Given the description of an element on the screen output the (x, y) to click on. 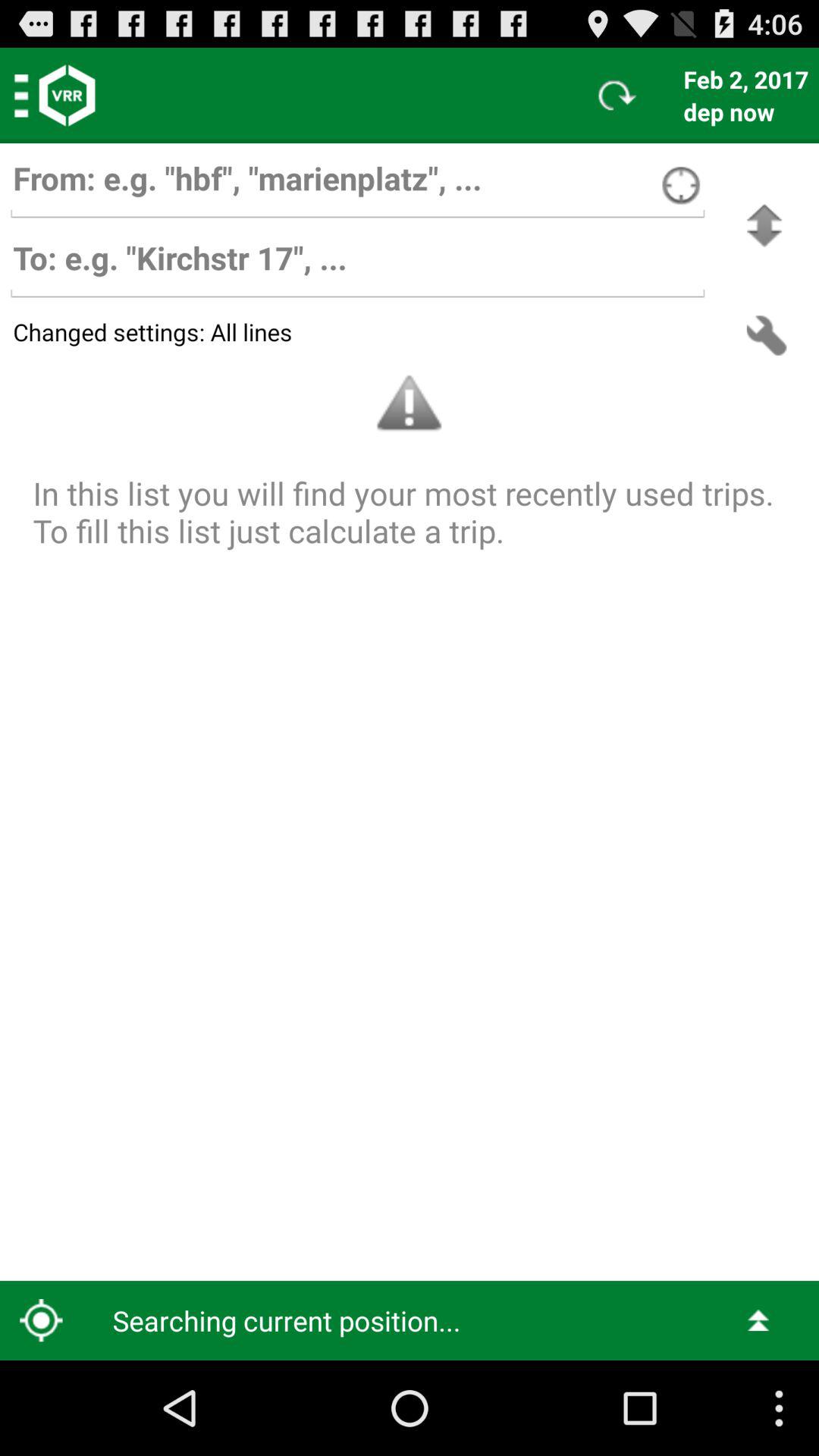
bar to set destination (357, 265)
